Given the description of an element on the screen output the (x, y) to click on. 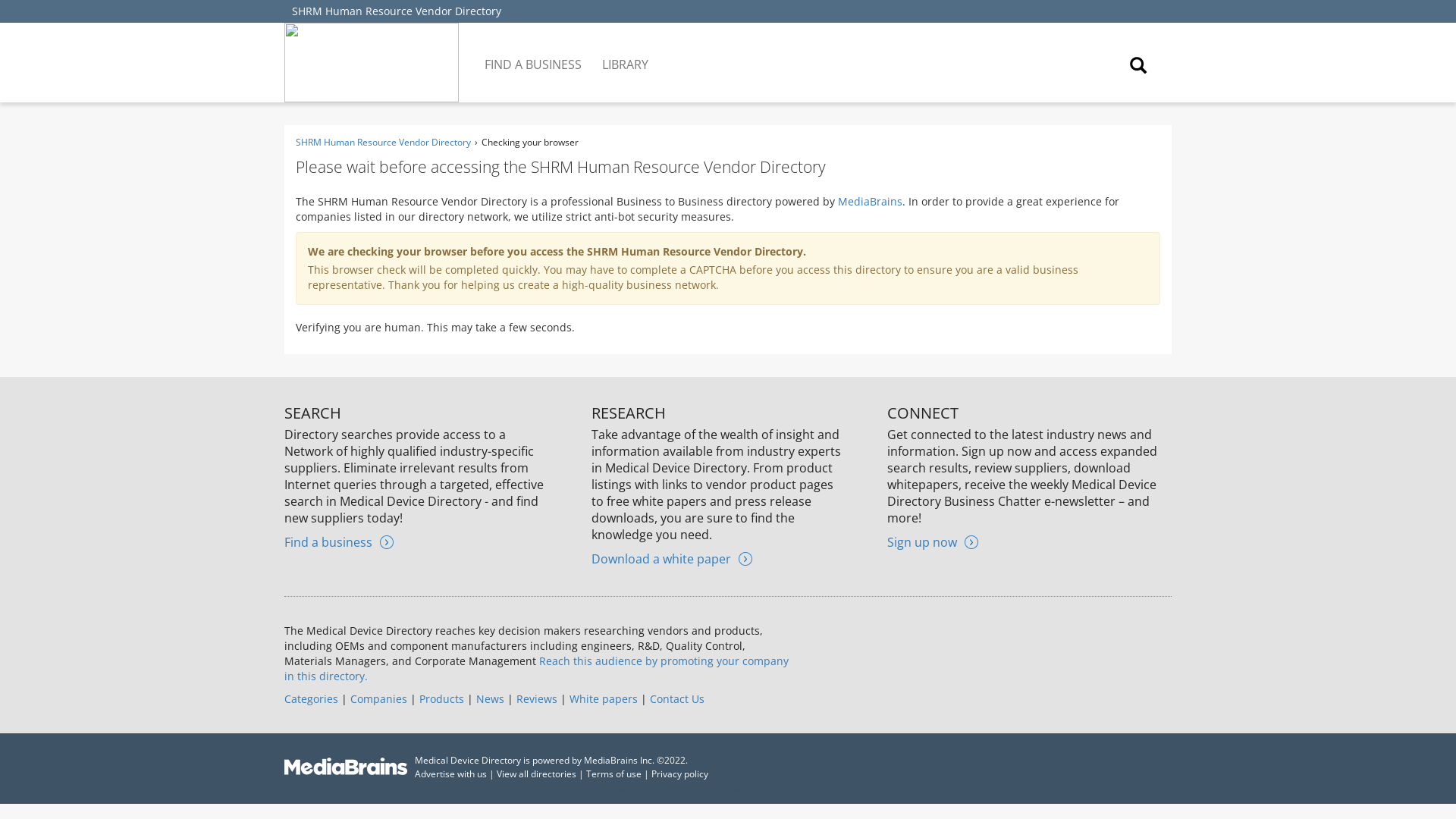
LIBRARY (626, 52)
Contact Us (676, 698)
Find a business (338, 541)
Products (441, 698)
News (489, 698)
View all directories (536, 773)
Companies (378, 698)
FIND A BUSINESS (534, 52)
Categories (310, 698)
Advertise with us (450, 773)
SHRM Human Resource Vendor Directory (395, 11)
Privacy policy (678, 773)
Download a white paper (671, 558)
SHRM Human Resource Vendor Directory (382, 141)
